Given the description of an element on the screen output the (x, y) to click on. 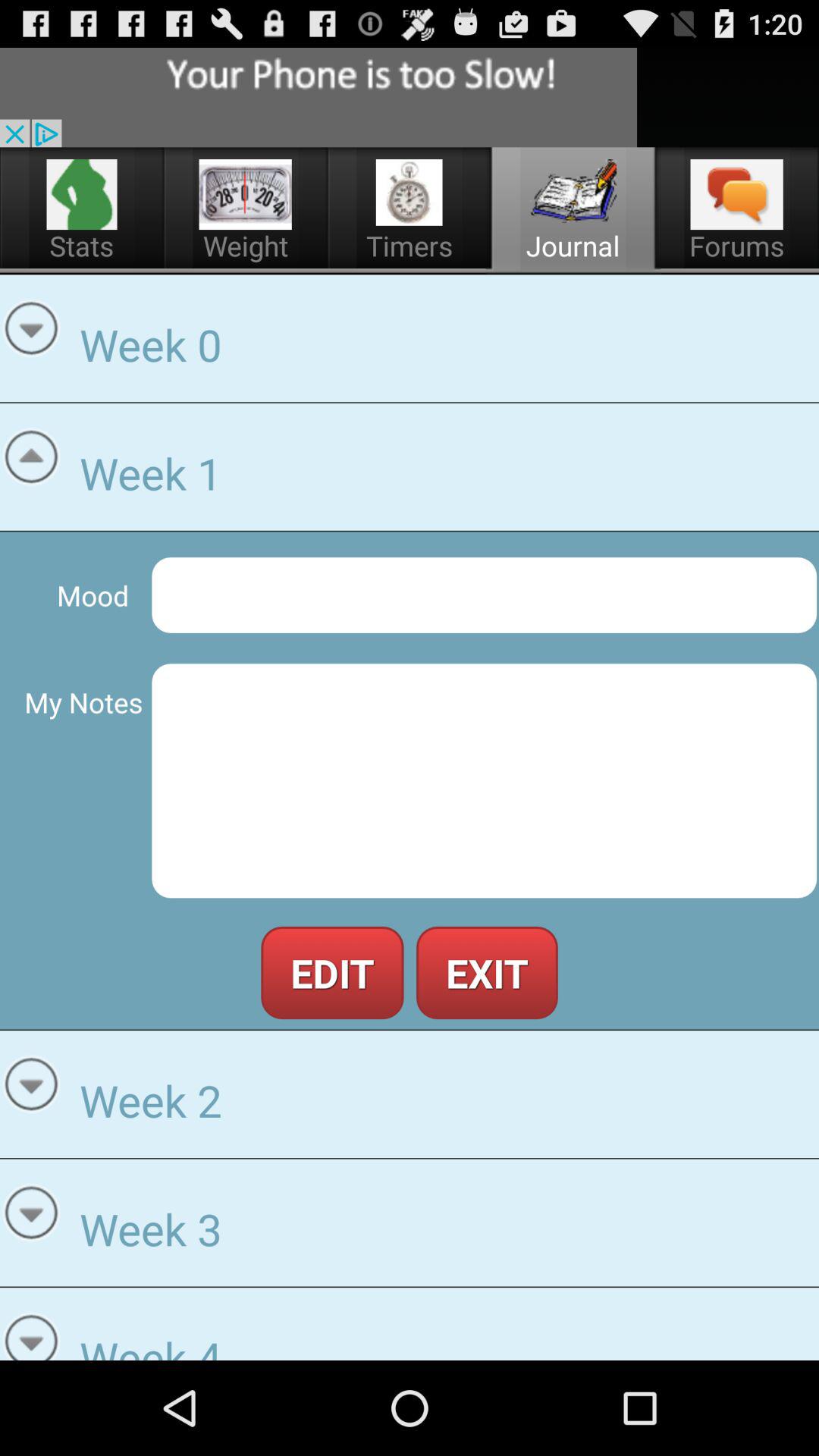
advertisement (318, 97)
